Given the description of an element on the screen output the (x, y) to click on. 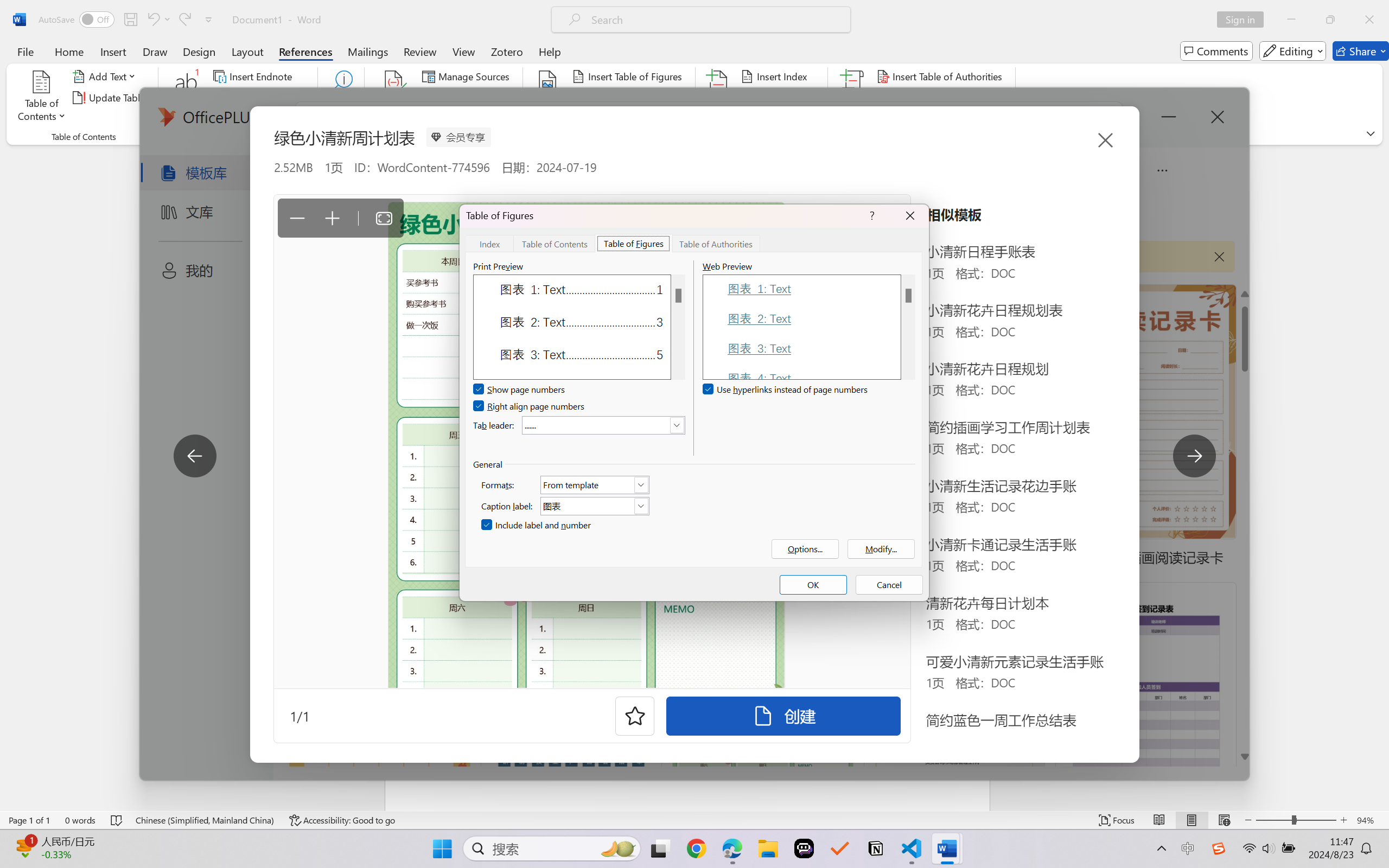
Web Preview (908, 327)
Undo Apply Quick Style Set (158, 19)
AutomationID: 66 (908, 327)
Insert Table of Figures... (628, 75)
Style (488, 97)
Style (483, 96)
